Given the description of an element on the screen output the (x, y) to click on. 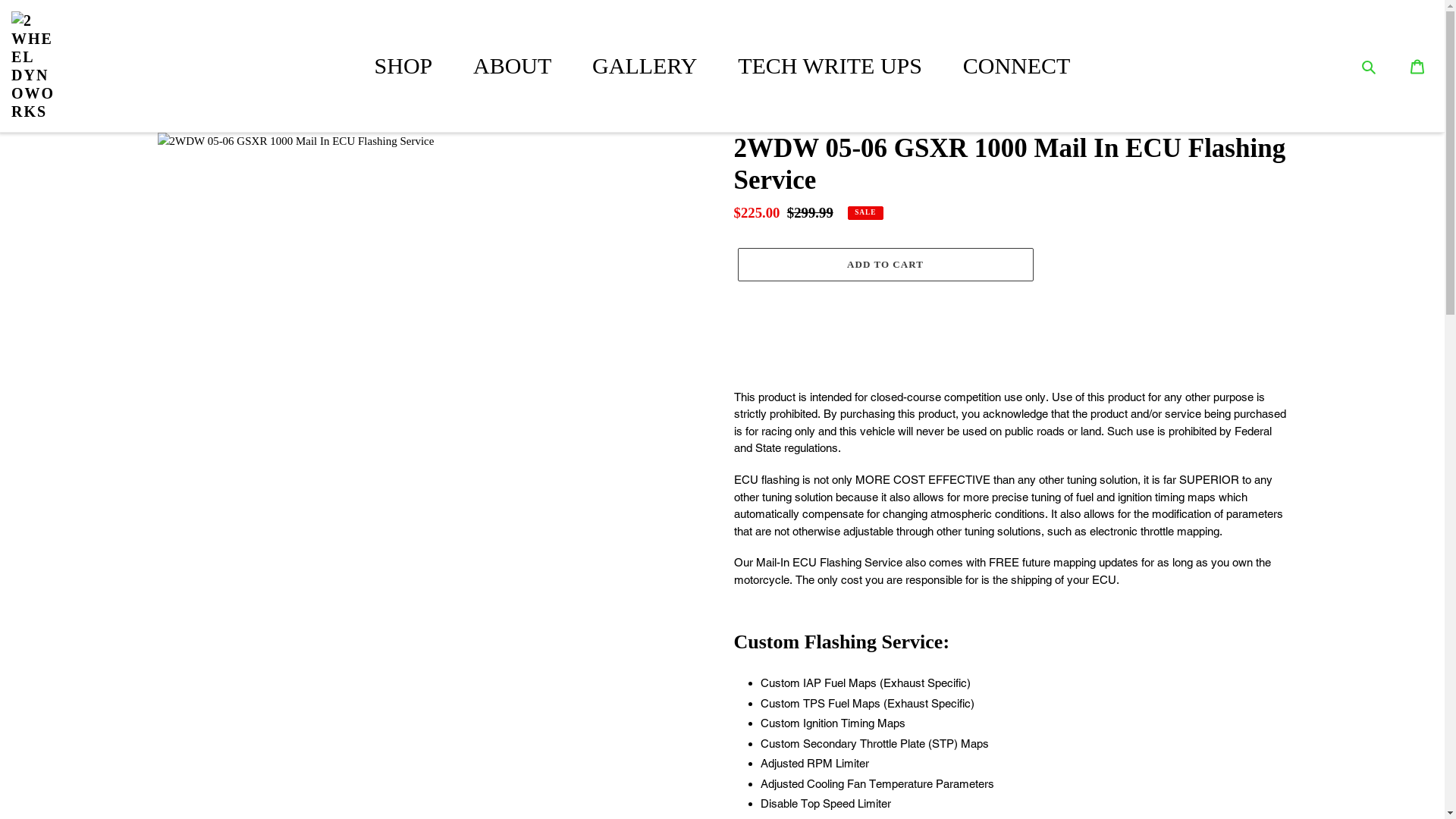
Search Element type: text (1378, 65)
ABOUT Element type: text (512, 65)
ADD TO CART Element type: text (884, 264)
CONNECT Element type: text (1016, 65)
SHOP Element type: text (403, 65)
TECH WRITE UPS Element type: text (829, 65)
Cart Element type: text (1417, 66)
GALLERY Element type: text (644, 65)
